Given the description of an element on the screen output the (x, y) to click on. 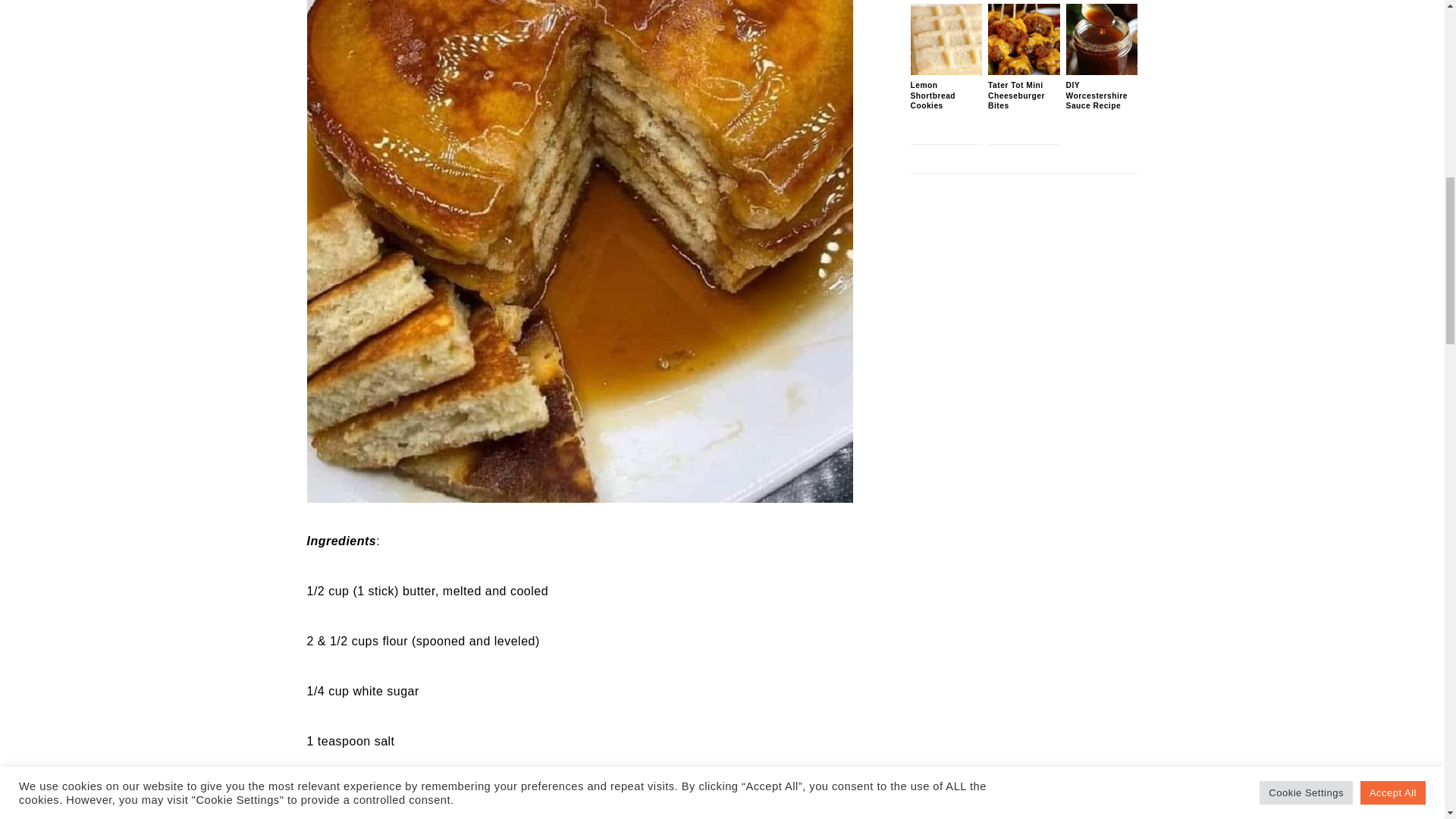
Lemon Shortbread Cookies (945, 71)
Tater Tot Mini Cheeseburger Bites (1023, 71)
